Given the description of an element on the screen output the (x, y) to click on. 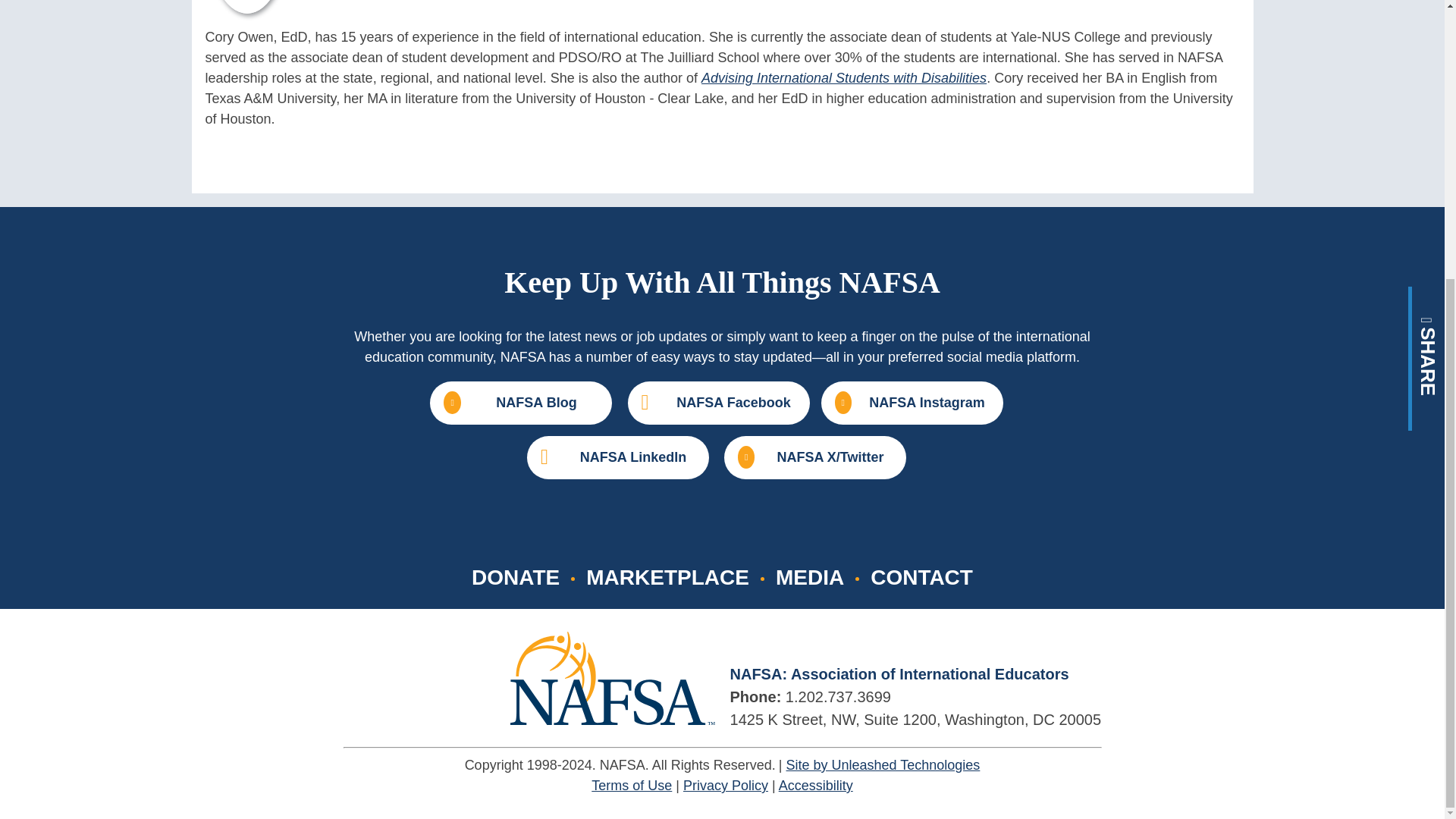
Donate to NAFSA (515, 576)
